Given the description of an element on the screen output the (x, y) to click on. 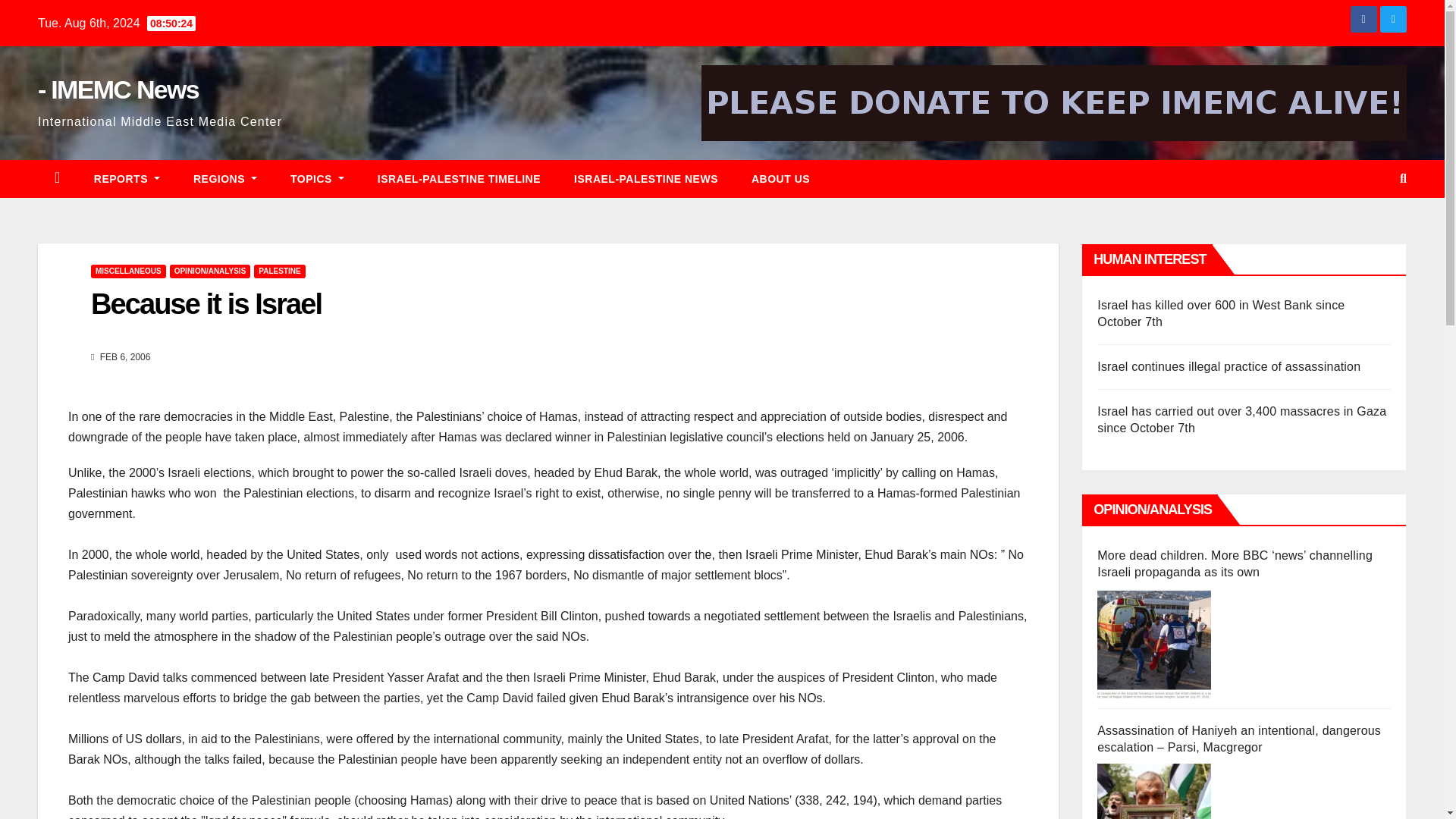
TOPICS (317, 178)
Regions (224, 178)
REPORTS (126, 178)
Reports (126, 178)
- IMEMC News (117, 89)
REGIONS (224, 178)
